Given the description of an element on the screen output the (x, y) to click on. 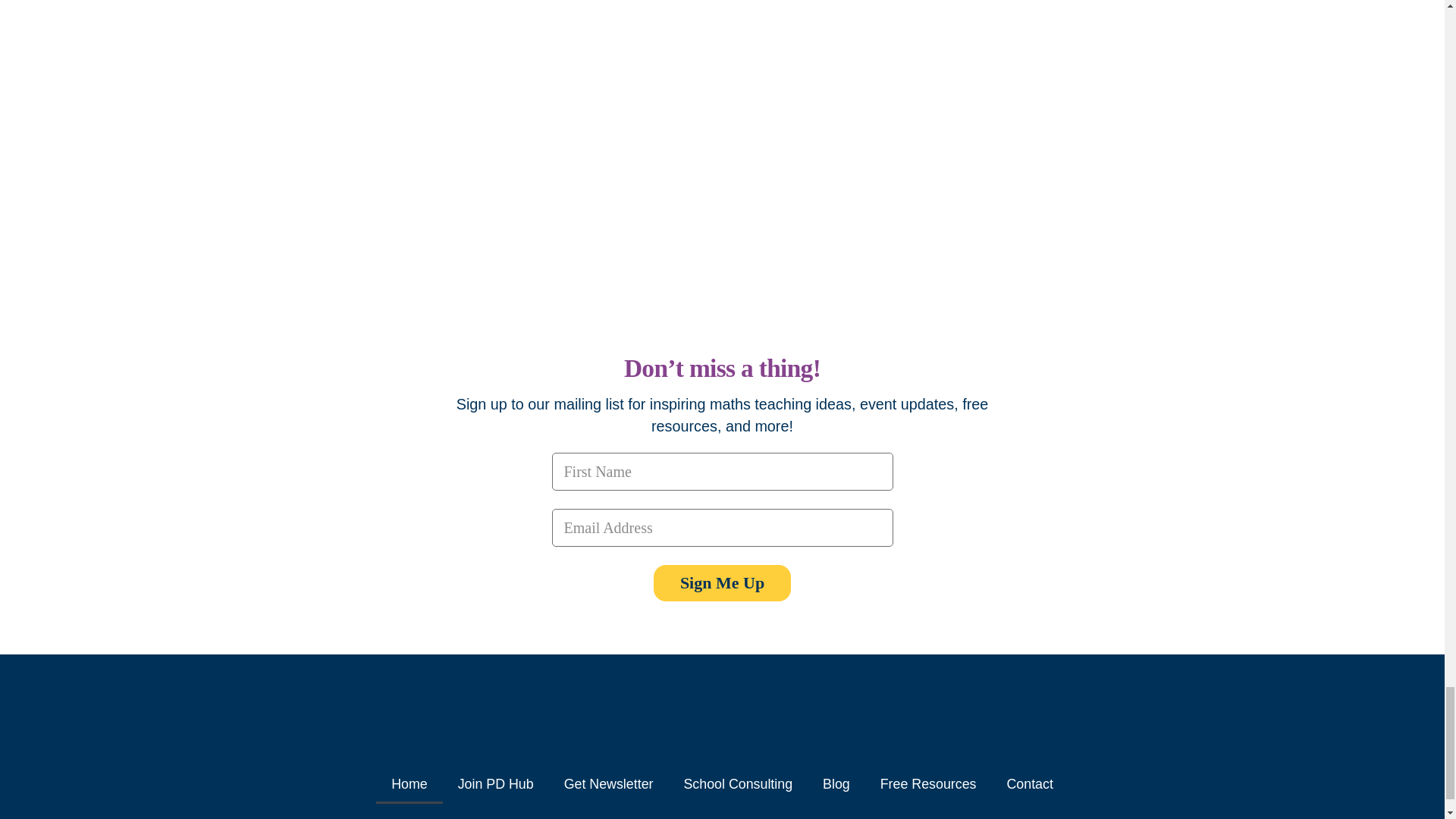
Join PD Hub (495, 783)
School Consulting (738, 783)
Home (408, 783)
Blog (836, 783)
Get Newsletter (608, 783)
Free Resources (927, 783)
Contact (1029, 783)
Sign Me Up (722, 583)
